Given the description of an element on the screen output the (x, y) to click on. 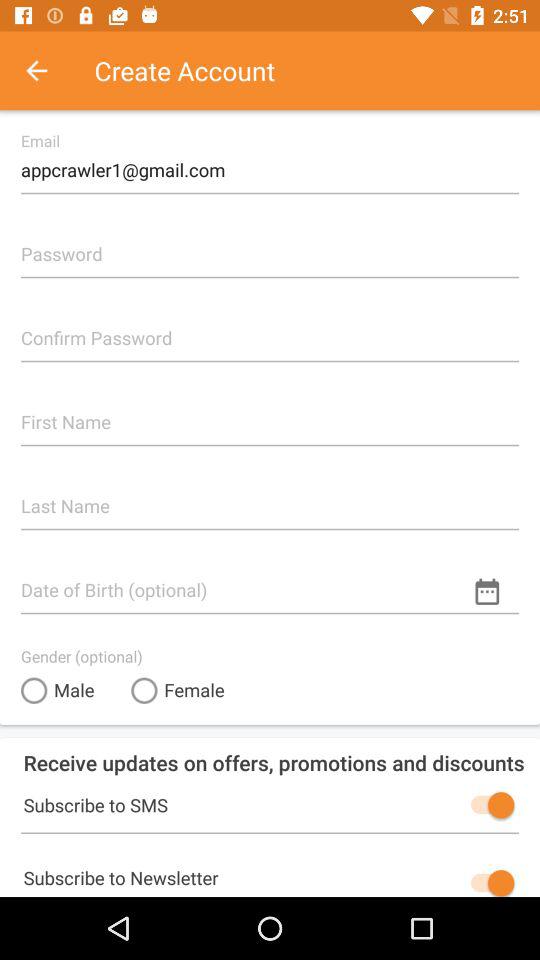
click icon next to create account icon (47, 70)
